Given the description of an element on the screen output the (x, y) to click on. 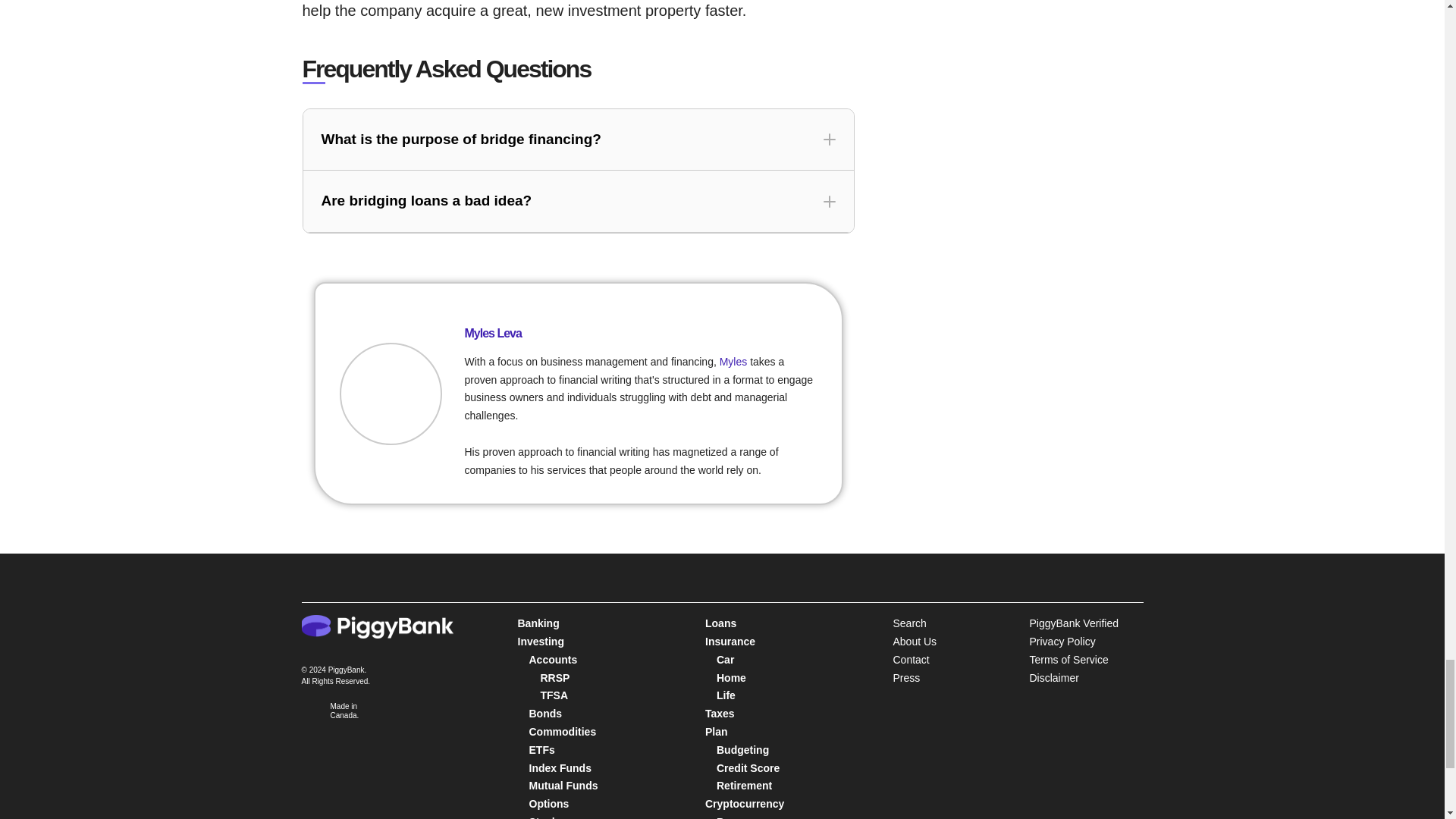
Posts by Myles Leva (492, 332)
